Given the description of an element on the screen output the (x, y) to click on. 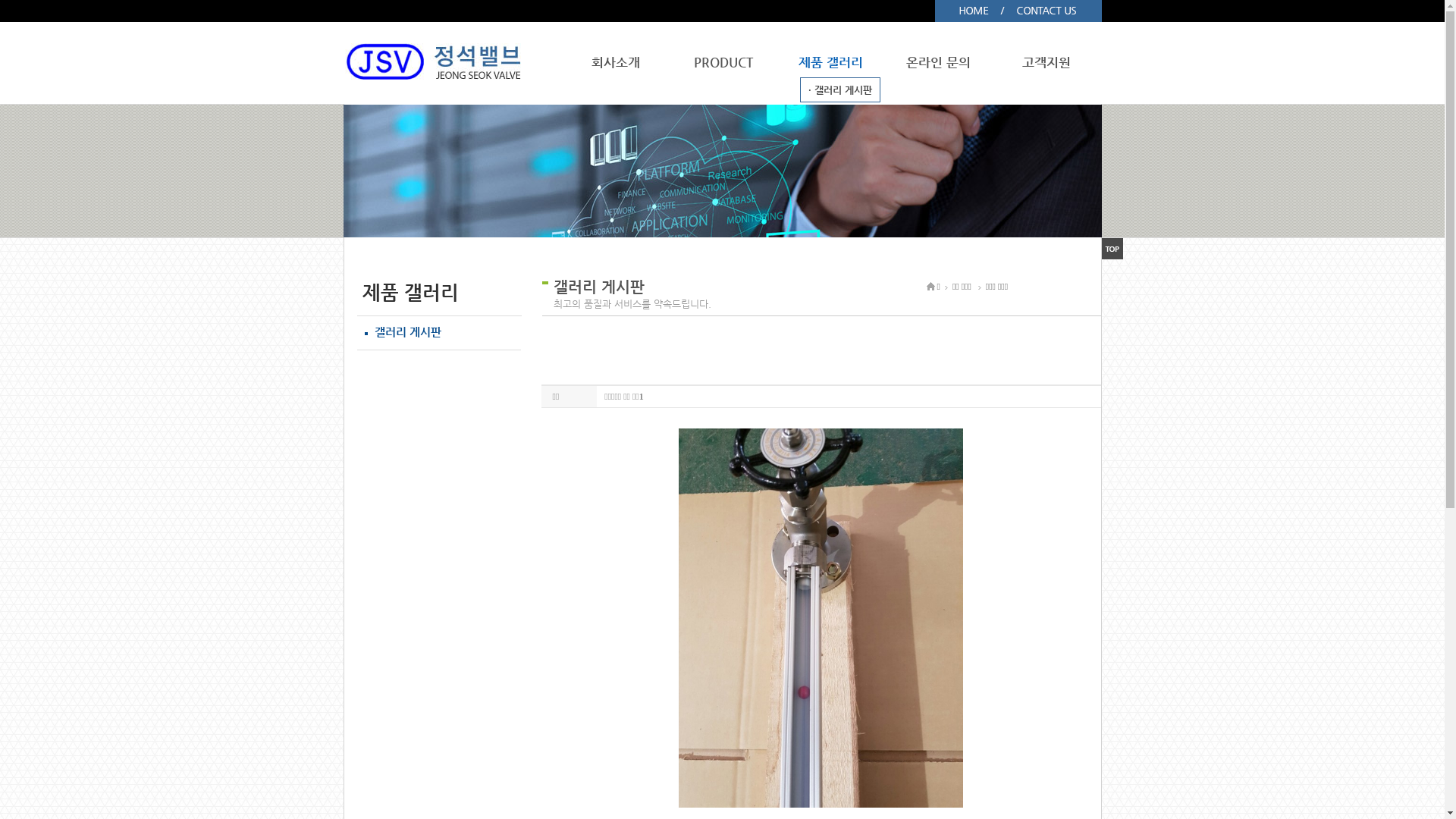
PRODUCT Element type: text (722, 62)
